Given the description of an element on the screen output the (x, y) to click on. 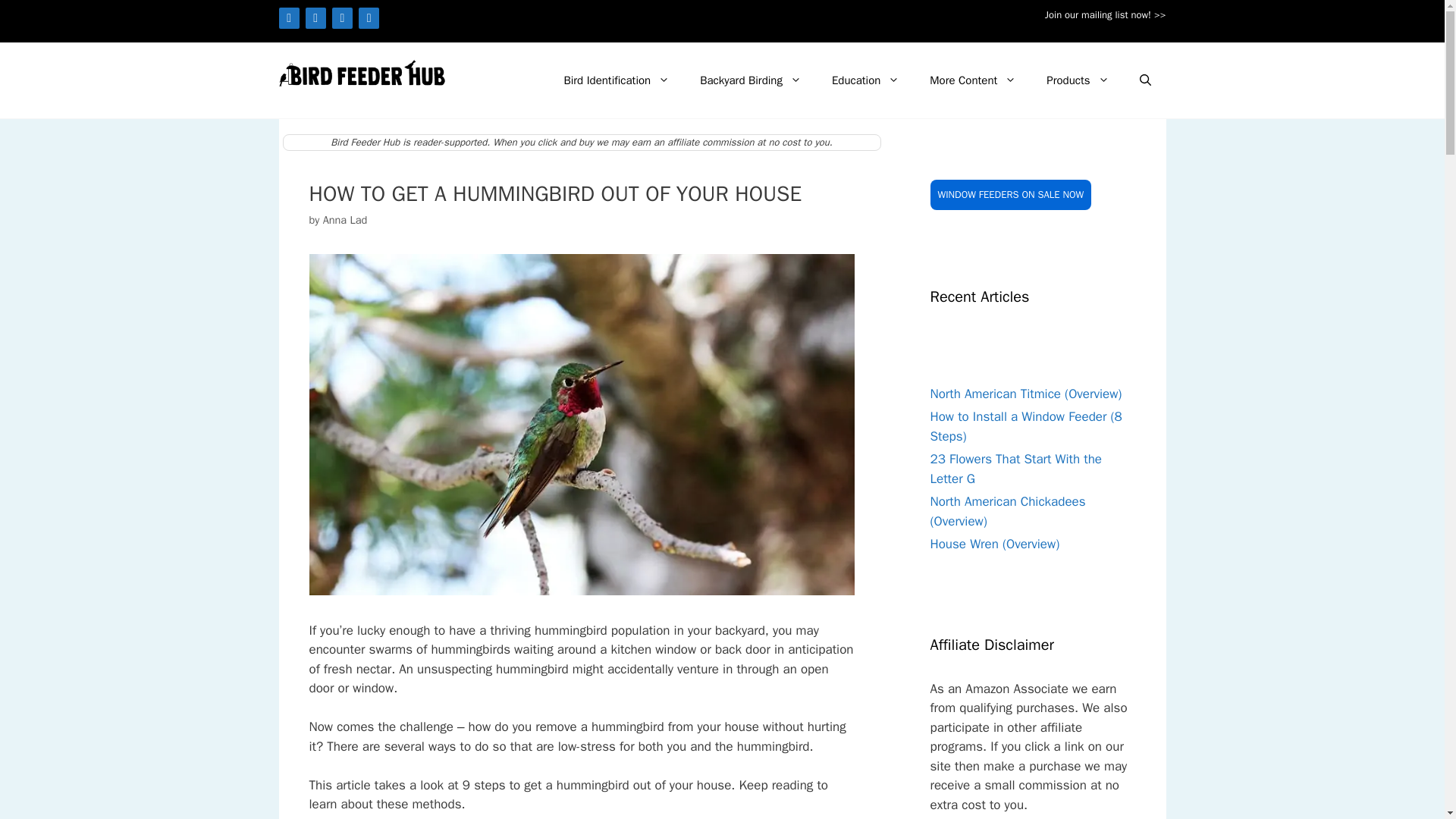
Backyard Birding (750, 80)
Bird Identification (616, 80)
Instagram (315, 17)
Facebook (289, 17)
Pinterest (341, 17)
More Content (972, 80)
Education (865, 80)
YouTube (368, 17)
